Given the description of an element on the screen output the (x, y) to click on. 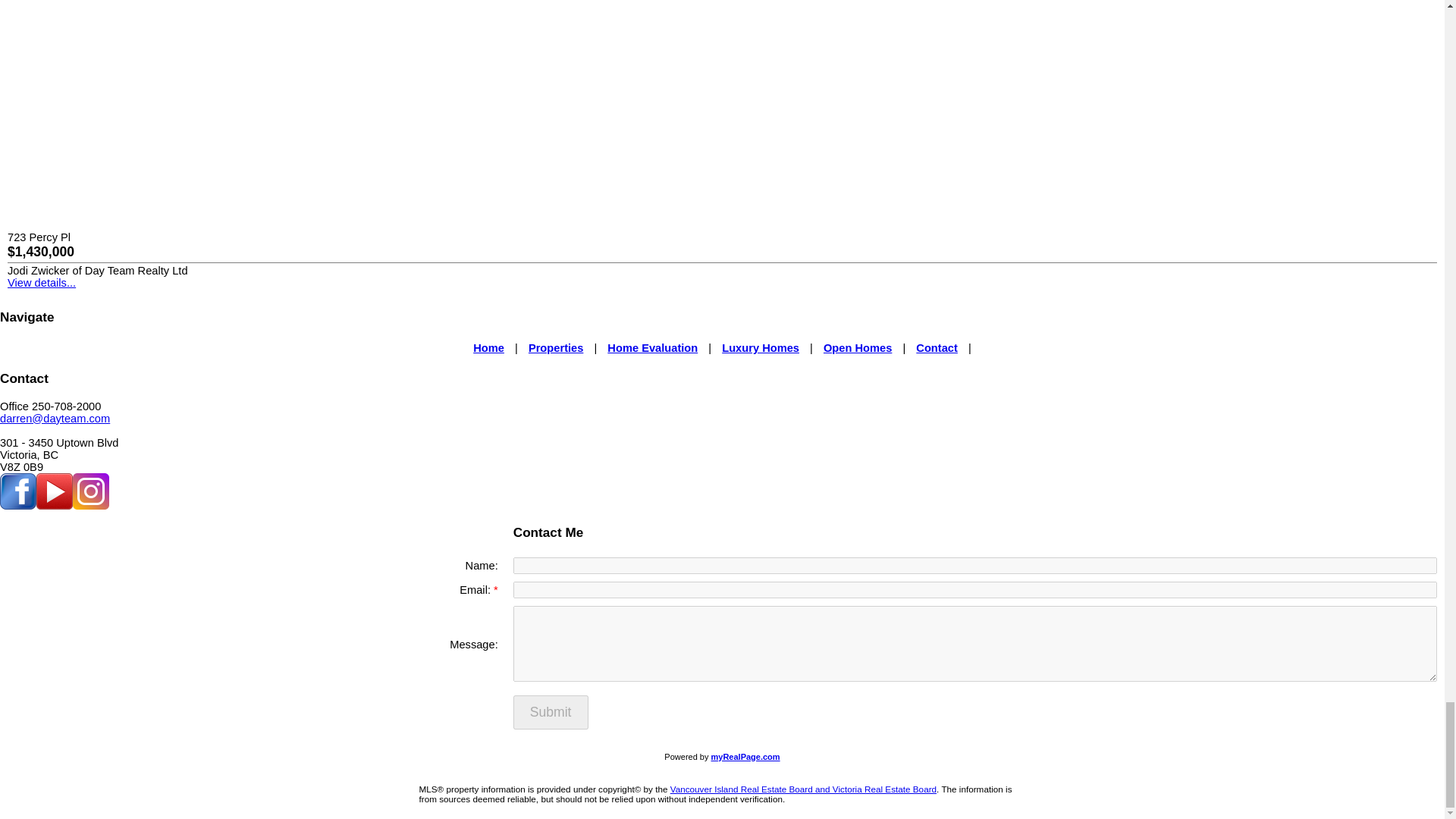
Contact (936, 347)
Home Evaluation (652, 347)
Properties (555, 347)
Open Homes (857, 347)
Luxury Homes (760, 347)
Home (488, 347)
